Given the description of an element on the screen output the (x, y) to click on. 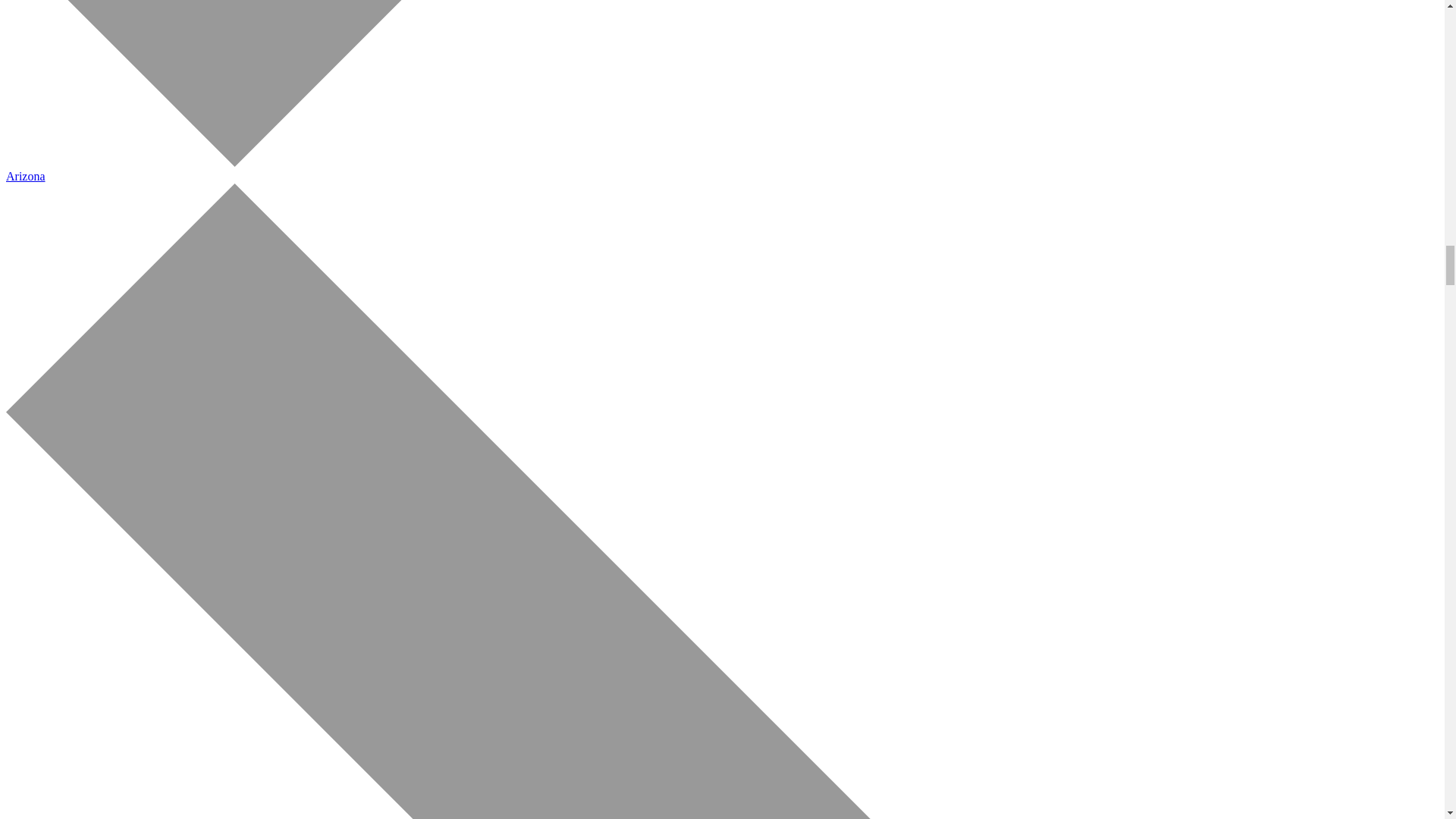
Arizona (25, 175)
